Given the description of an element on the screen output the (x, y) to click on. 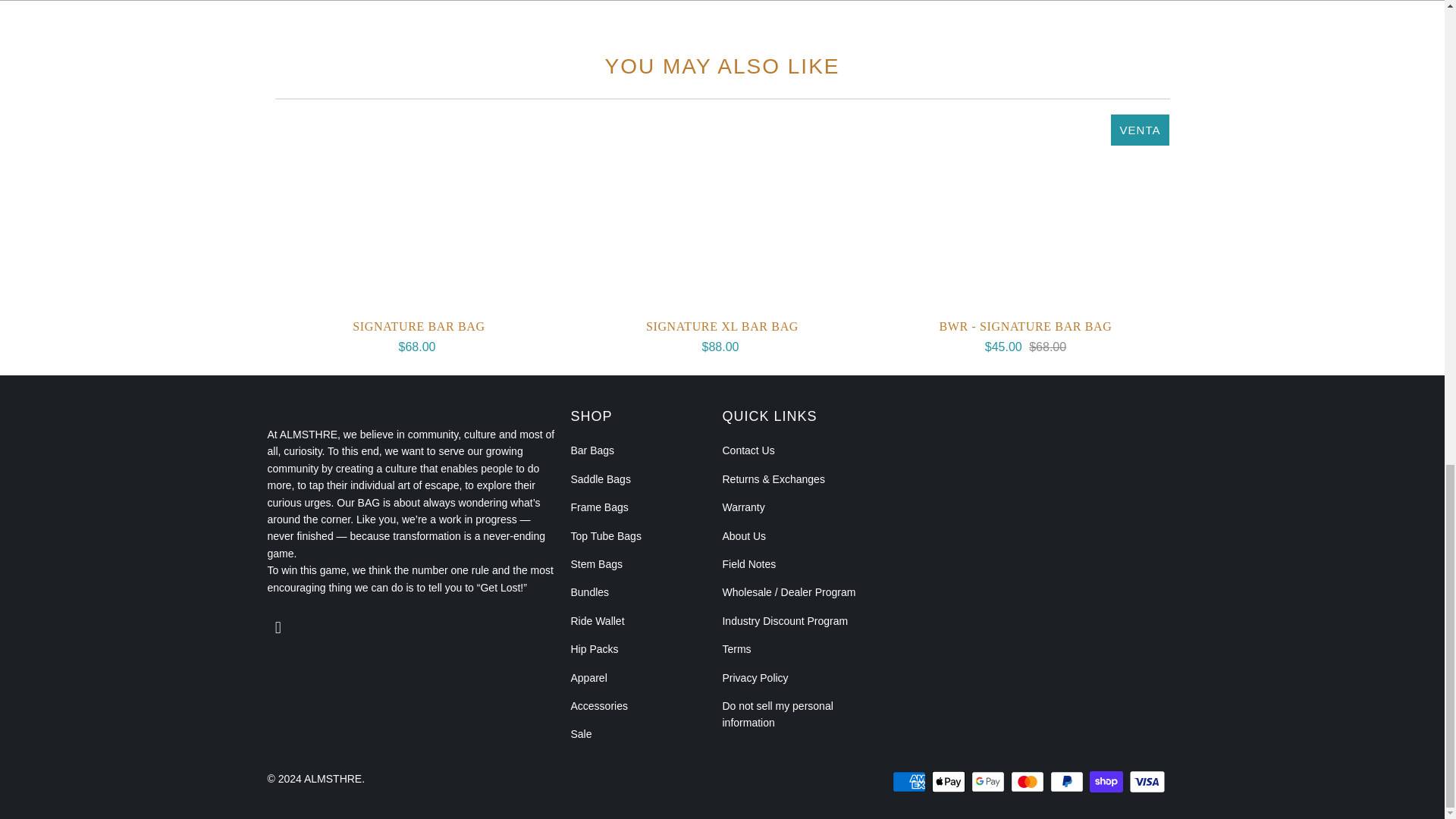
Apple Pay (949, 781)
Google Pay (989, 781)
Shop Pay (1107, 781)
Mastercard (1028, 781)
American Express (910, 781)
PayPal (1067, 781)
Visa (1146, 781)
ALMSTHRE on Instagram (277, 628)
